Given the description of an element on the screen output the (x, y) to click on. 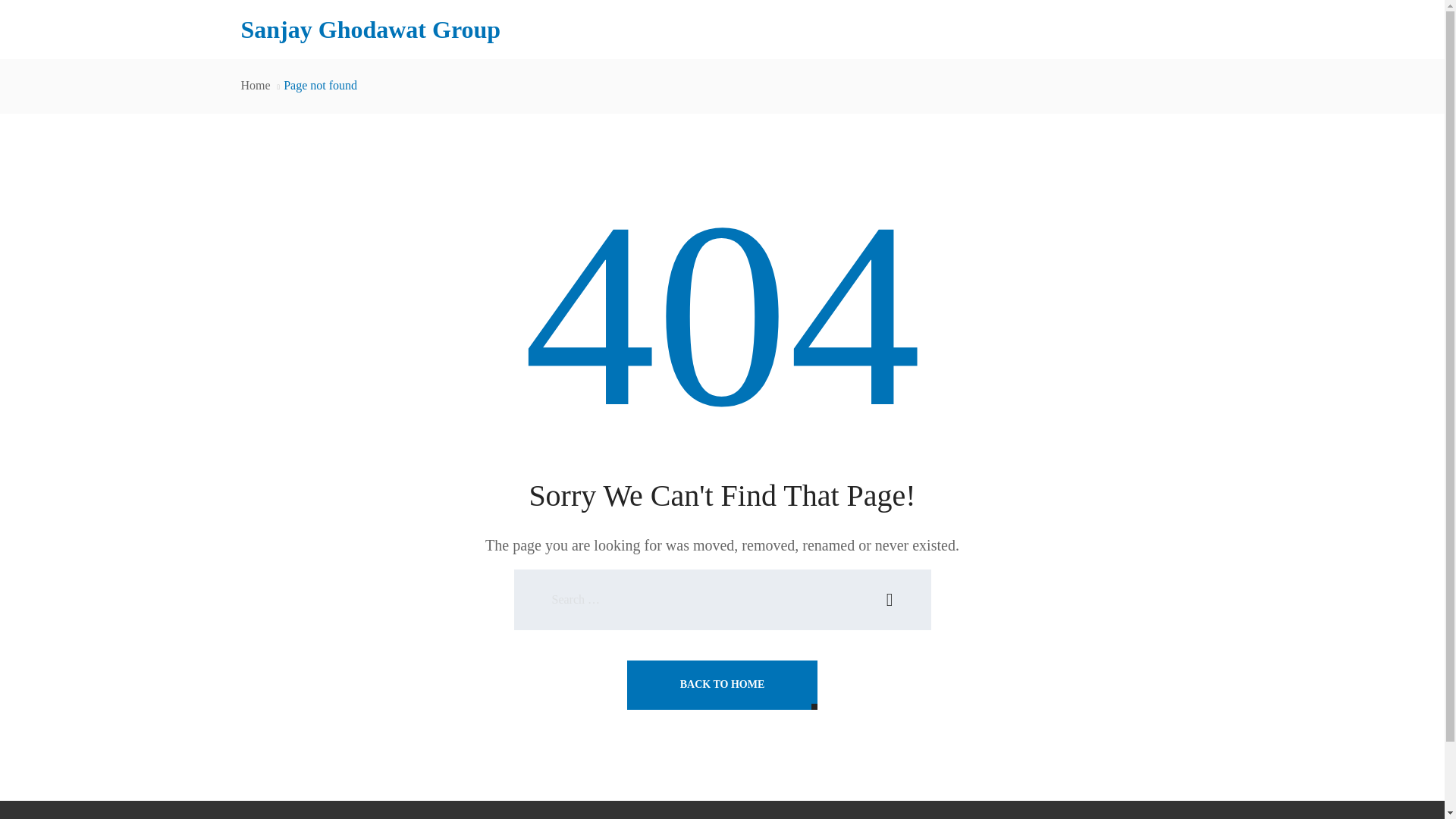
Search (889, 599)
Home (255, 84)
Sanjay Ghodawat Group (370, 33)
Search (889, 599)
BACK TO HOME (722, 685)
Search (889, 599)
Home (255, 84)
